Given the description of an element on the screen output the (x, y) to click on. 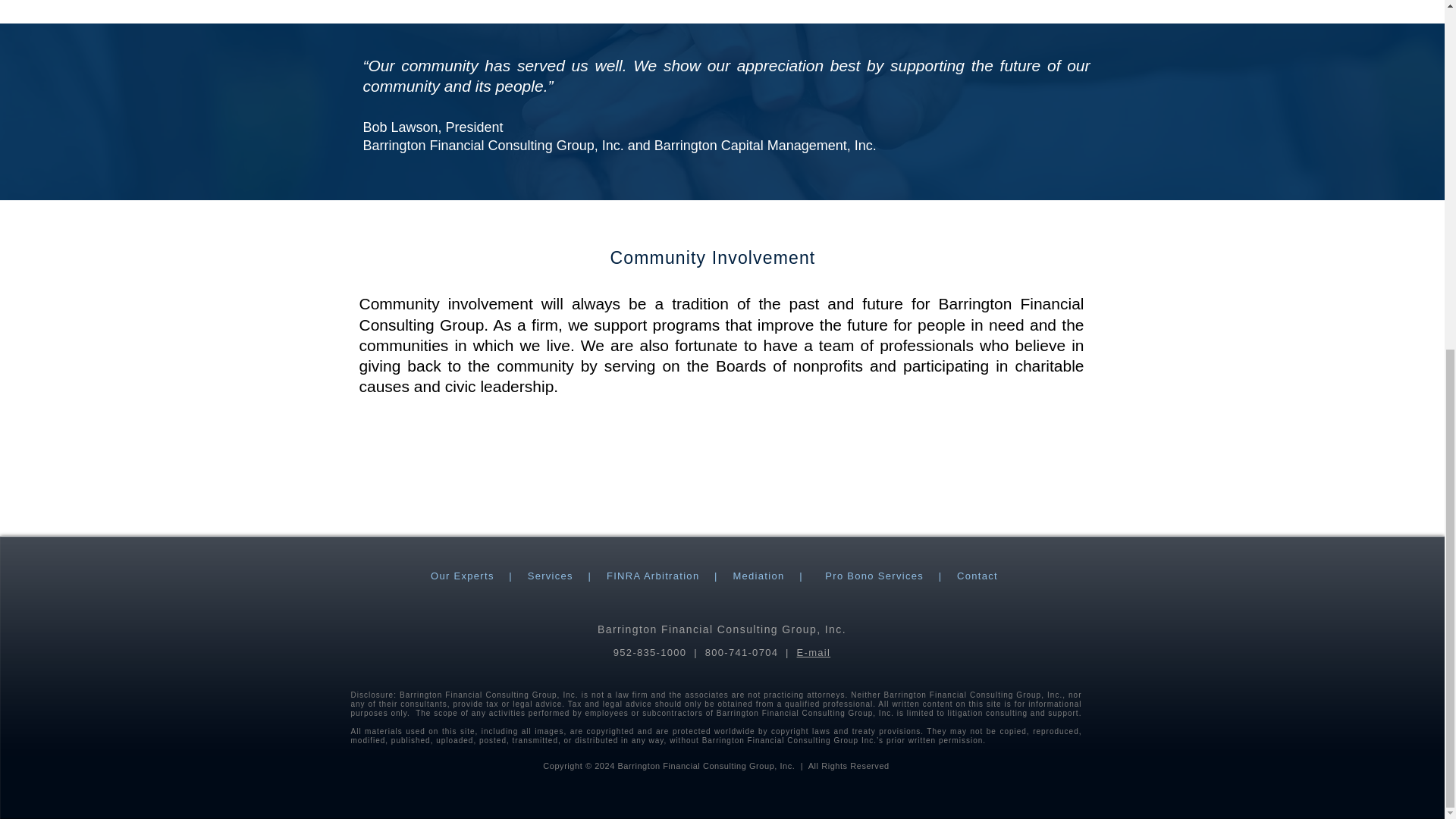
Services (550, 575)
Pro Bono Services (874, 575)
FINRA Arbitration (653, 575)
Contact (976, 575)
E-mail (813, 652)
Mediation (758, 575)
Our Experts (462, 575)
